Given the description of an element on the screen output the (x, y) to click on. 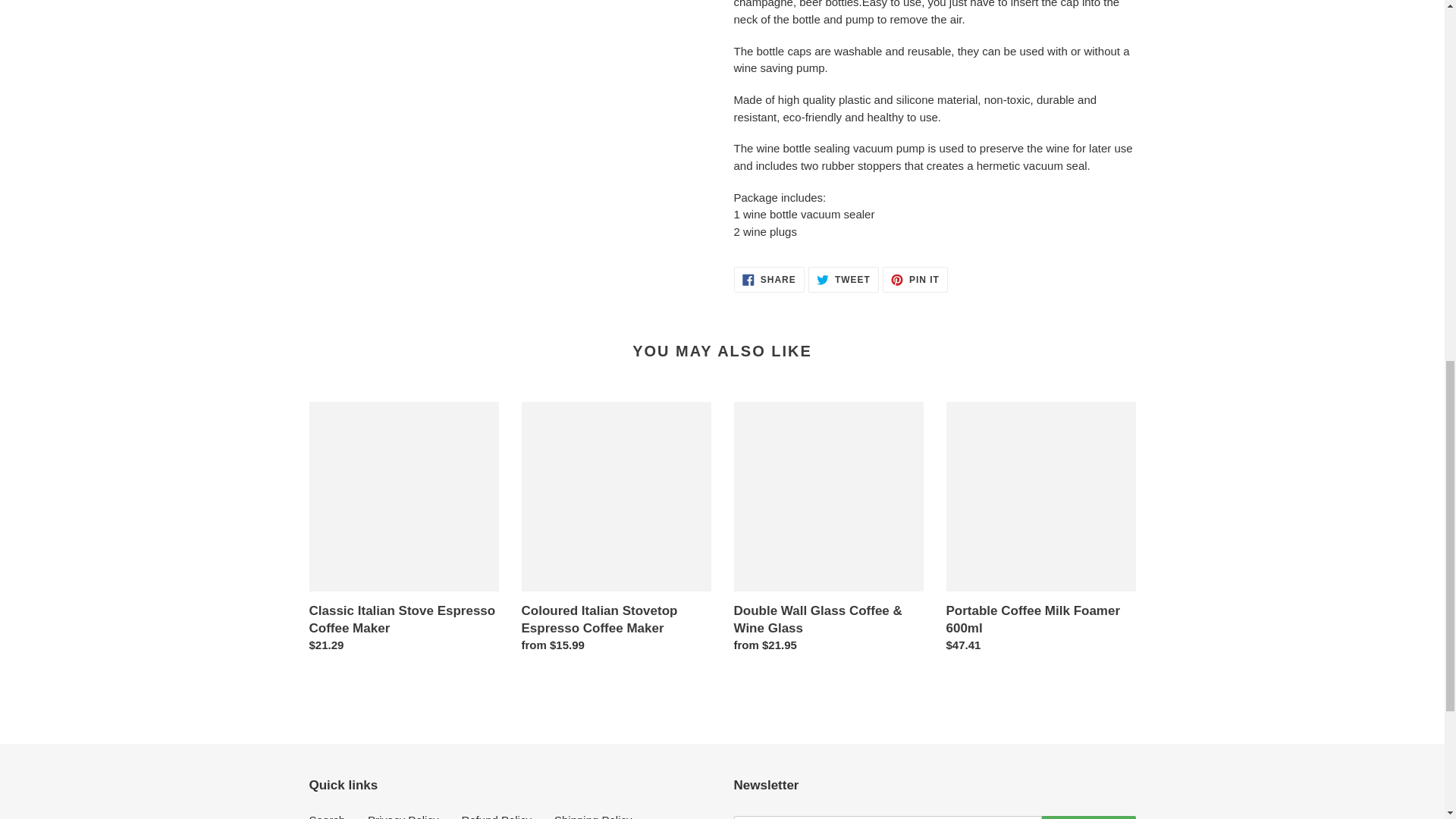
Refund Policy (769, 279)
SUBSCRIBE (843, 279)
Search (496, 816)
Privacy Policy (1088, 817)
Shipping Policy (327, 816)
